Given the description of an element on the screen output the (x, y) to click on. 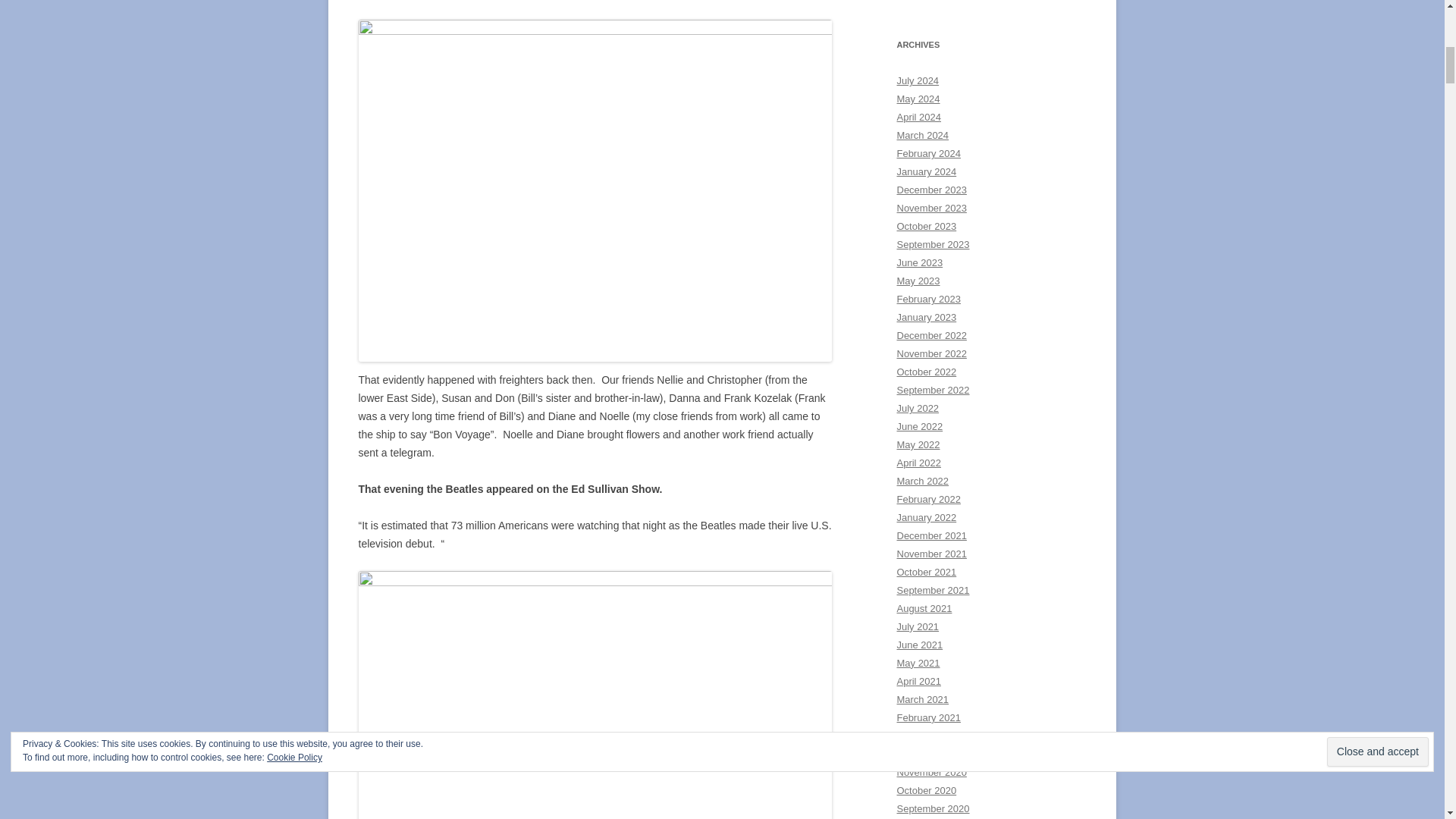
Enter email address (1350, 173)
Subscribe (1350, 205)
